Given the description of an element on the screen output the (x, y) to click on. 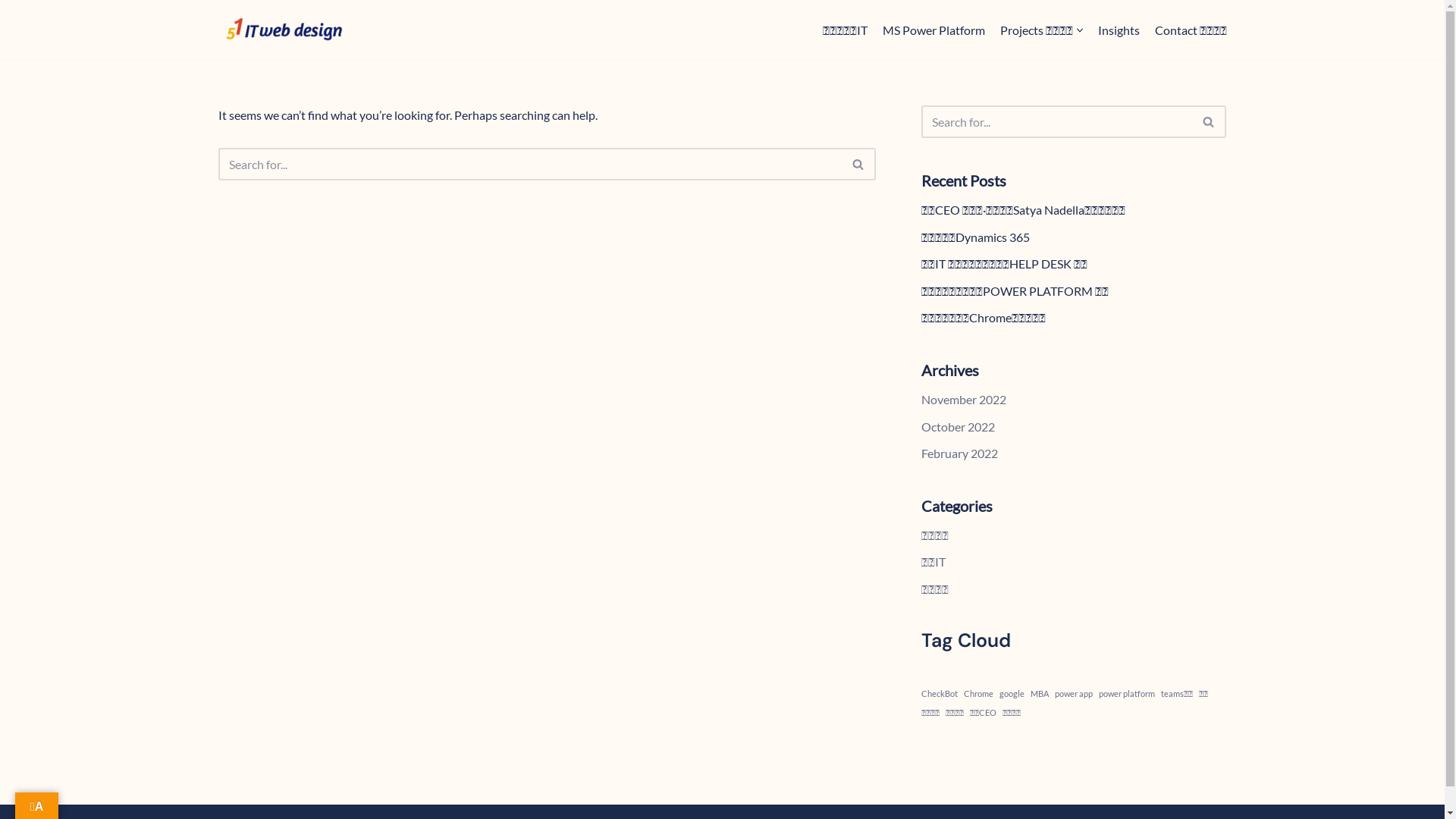
Skip to content Element type: text (11, 31)
Chrome Element type: text (978, 693)
October 2022 Element type: text (957, 426)
CheckBot Element type: text (939, 693)
February 2022 Element type: text (959, 452)
MS Power Platform Element type: text (933, 30)
November 2022 Element type: text (963, 399)
google Element type: text (1011, 693)
power app Element type: text (1073, 693)
power platform Element type: text (1126, 693)
Insights Element type: text (1118, 30)
MBA Element type: text (1039, 693)
